Given the description of an element on the screen output the (x, y) to click on. 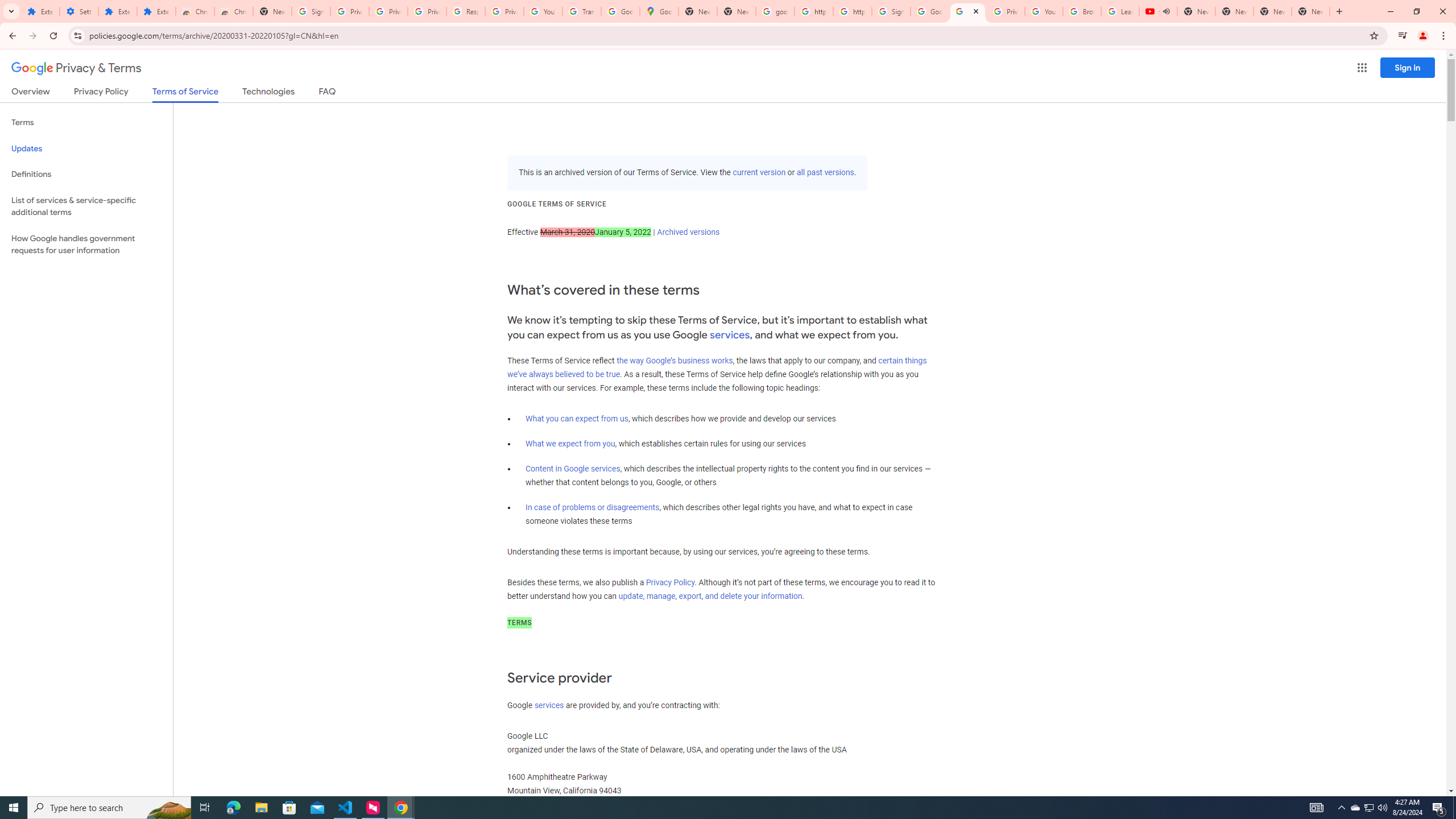
current version (759, 172)
https://scholar.google.com/ (813, 11)
What we expect from you (570, 443)
